Given the description of an element on the screen output the (x, y) to click on. 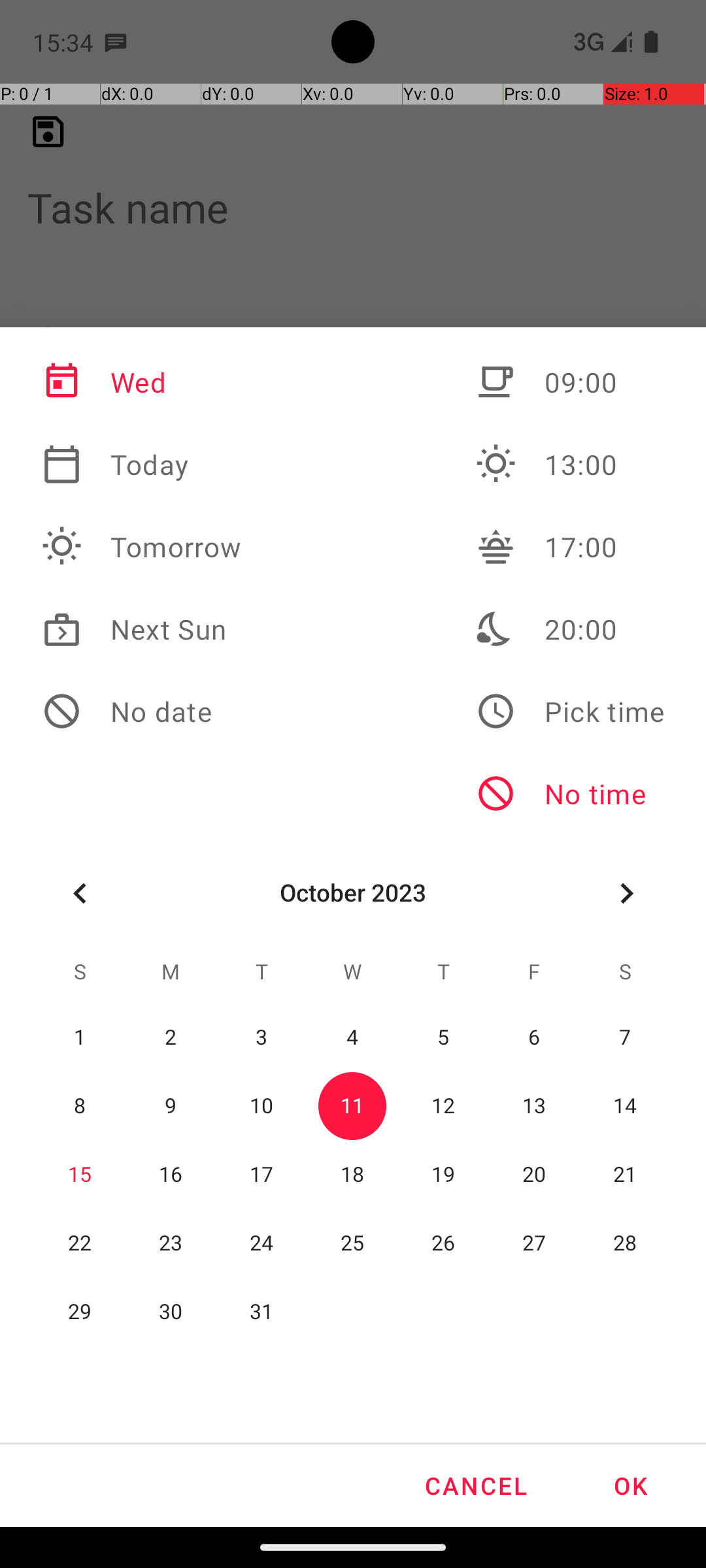
Wed Element type: android.widget.CompoundButton (141, 382)
Today Element type: android.widget.CompoundButton (141, 464)
Tomorrow Element type: android.widget.CompoundButton (141, 546)
Next Sun Element type: android.widget.CompoundButton (141, 629)
No date Element type: android.widget.CompoundButton (141, 711)
13:00 Element type: android.widget.CompoundButton (569, 464)
17:00 Element type: android.widget.CompoundButton (569, 546)
20:00 Element type: android.widget.CompoundButton (569, 629)
No time Element type: android.widget.CompoundButton (569, 793)
